Given the description of an element on the screen output the (x, y) to click on. 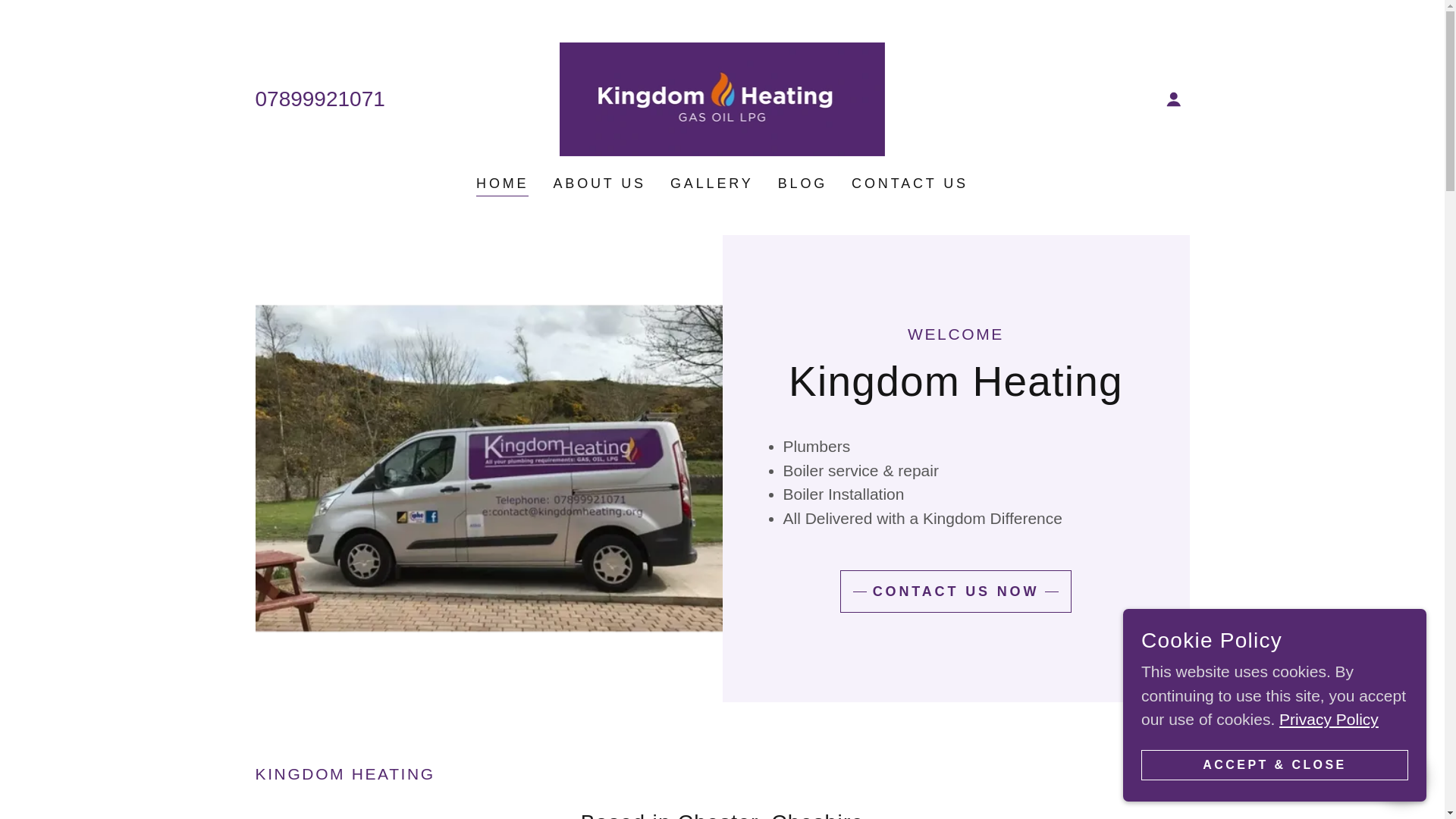
CONTACT US (909, 183)
BLOG (802, 183)
HOME (502, 185)
Kingdom Heating (722, 98)
GALLERY (711, 183)
07899921071 (319, 98)
CONTACT US NOW (955, 591)
ABOUT US (599, 183)
